Given the description of an element on the screen output the (x, y) to click on. 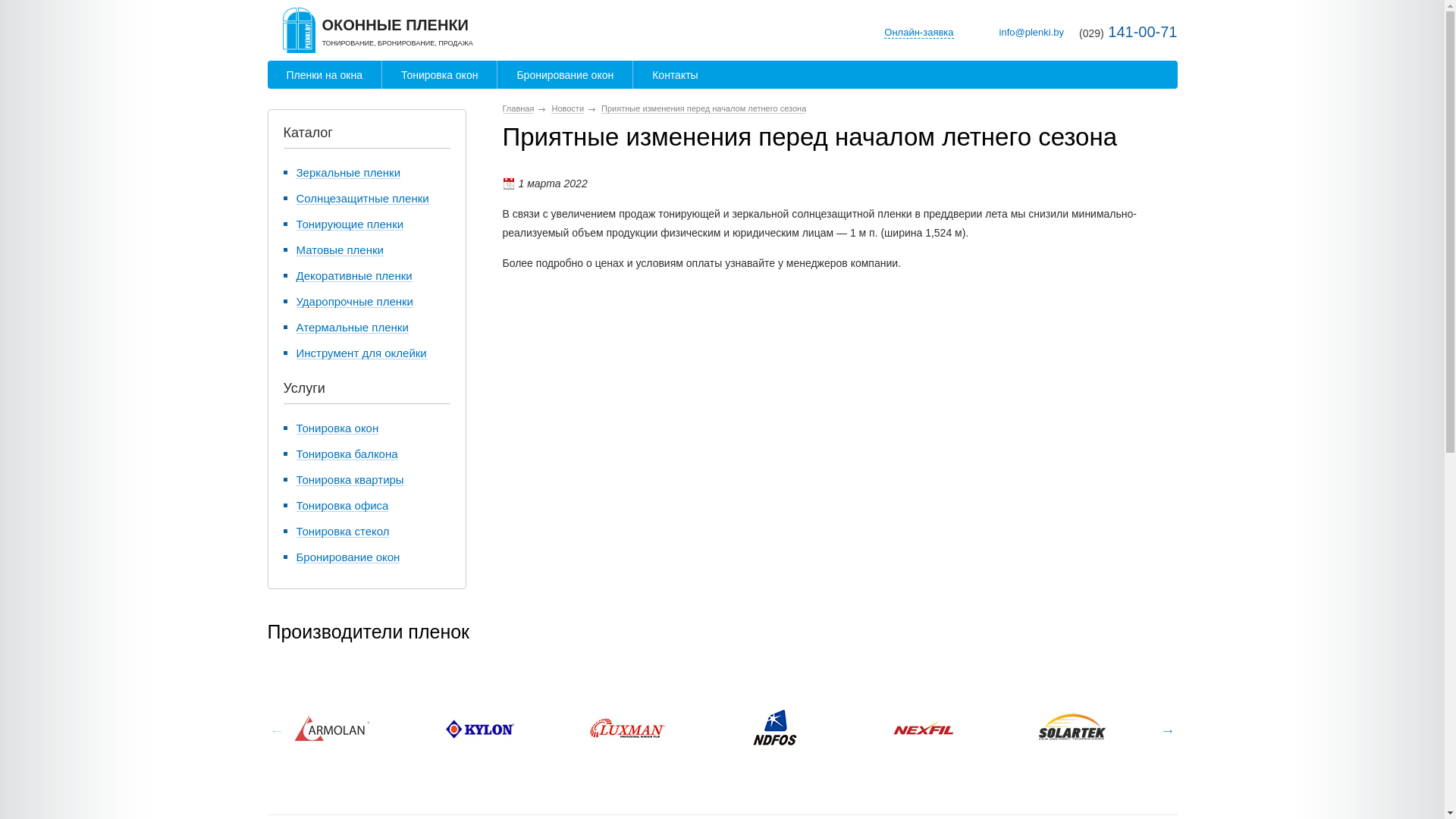
Luxman Element type: hover (663, 728)
SOLARTEK Element type: hover (1106, 728)
Armolan Element type: hover (332, 728)
Kylon Element type: hover (479, 728)
Luxman Element type: hover (627, 728)
Next Element type: text (1167, 729)
Armolan Element type: hover (368, 728)
NDFOS Element type: hover (774, 728)
SOLARTEK Element type: hover (1070, 728)
NEXFIL Element type: hover (923, 728)
Kylon Element type: hover (515, 728)
Previous Element type: text (275, 729)
NEXFIL Element type: hover (959, 728)
NDFOS Element type: hover (810, 728)
